Given the description of an element on the screen output the (x, y) to click on. 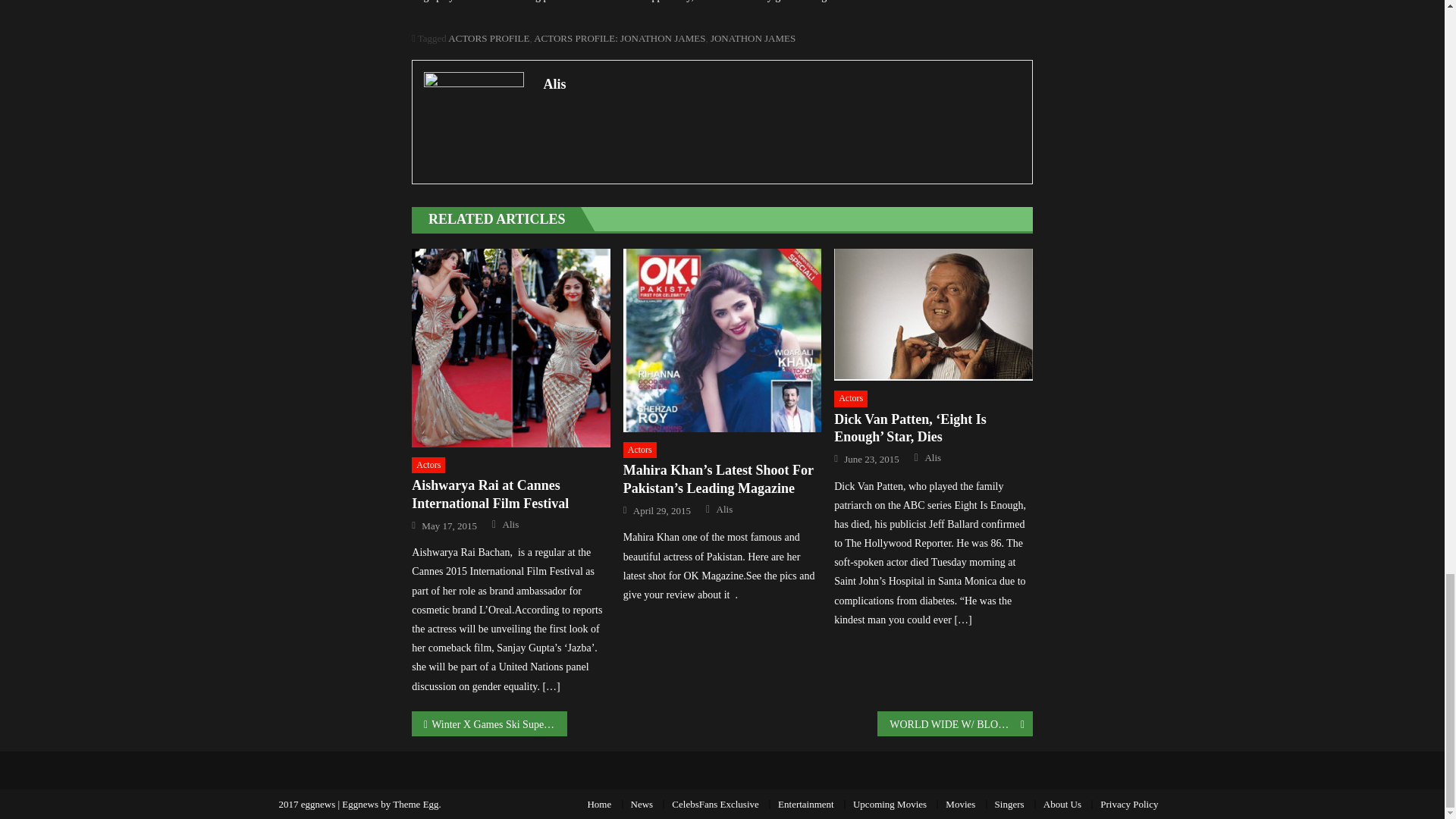
Actors (428, 465)
ACTORS PROFILE (488, 38)
Aishwarya Rai at Cannes International Film Festival (511, 347)
Alis (781, 84)
ACTORS PROFILE: JONATHON JAMES (619, 38)
JONATHON JAMES (752, 38)
